Given the description of an element on the screen output the (x, y) to click on. 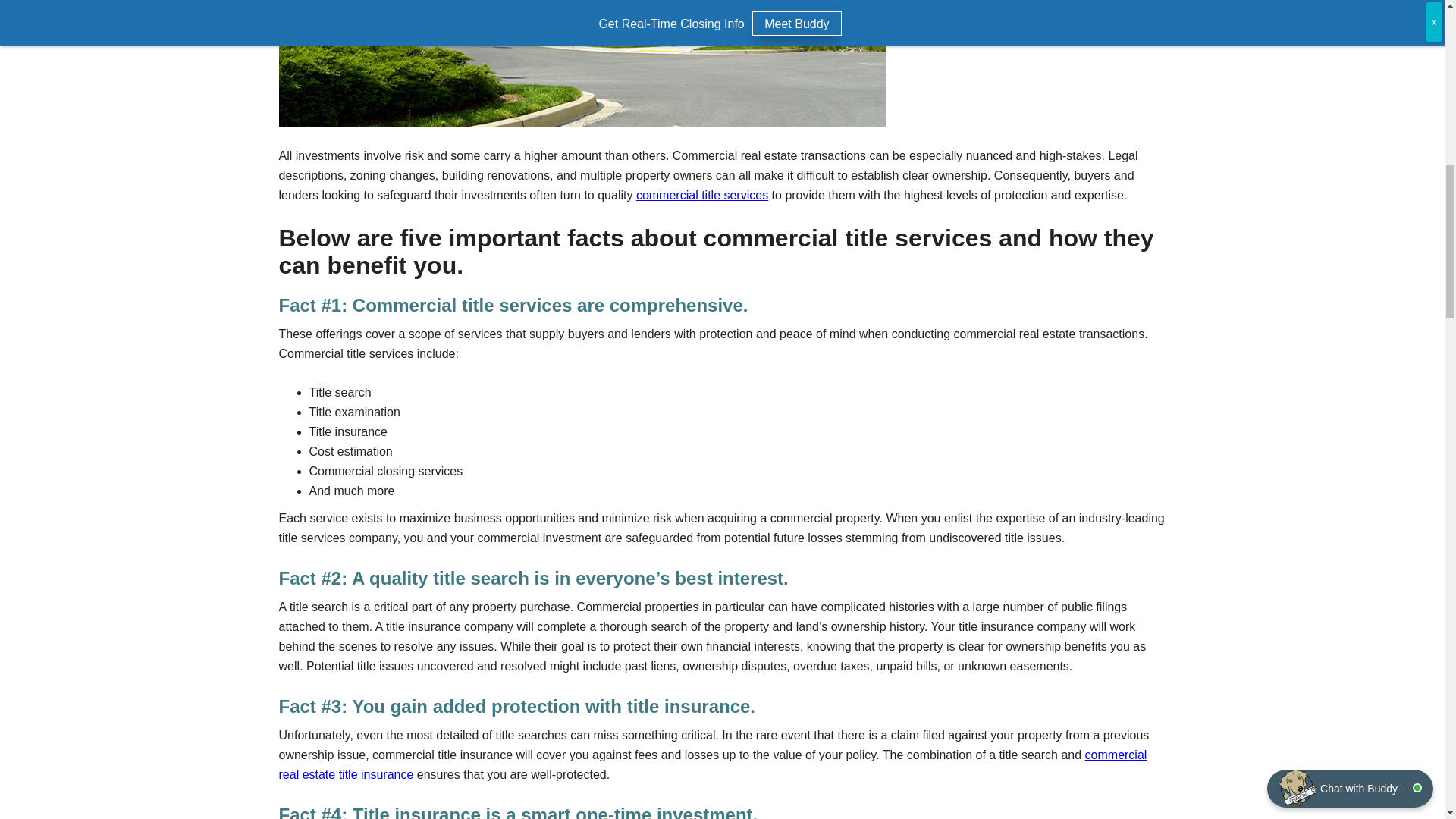
commercial title services (702, 195)
